Given the description of an element on the screen output the (x, y) to click on. 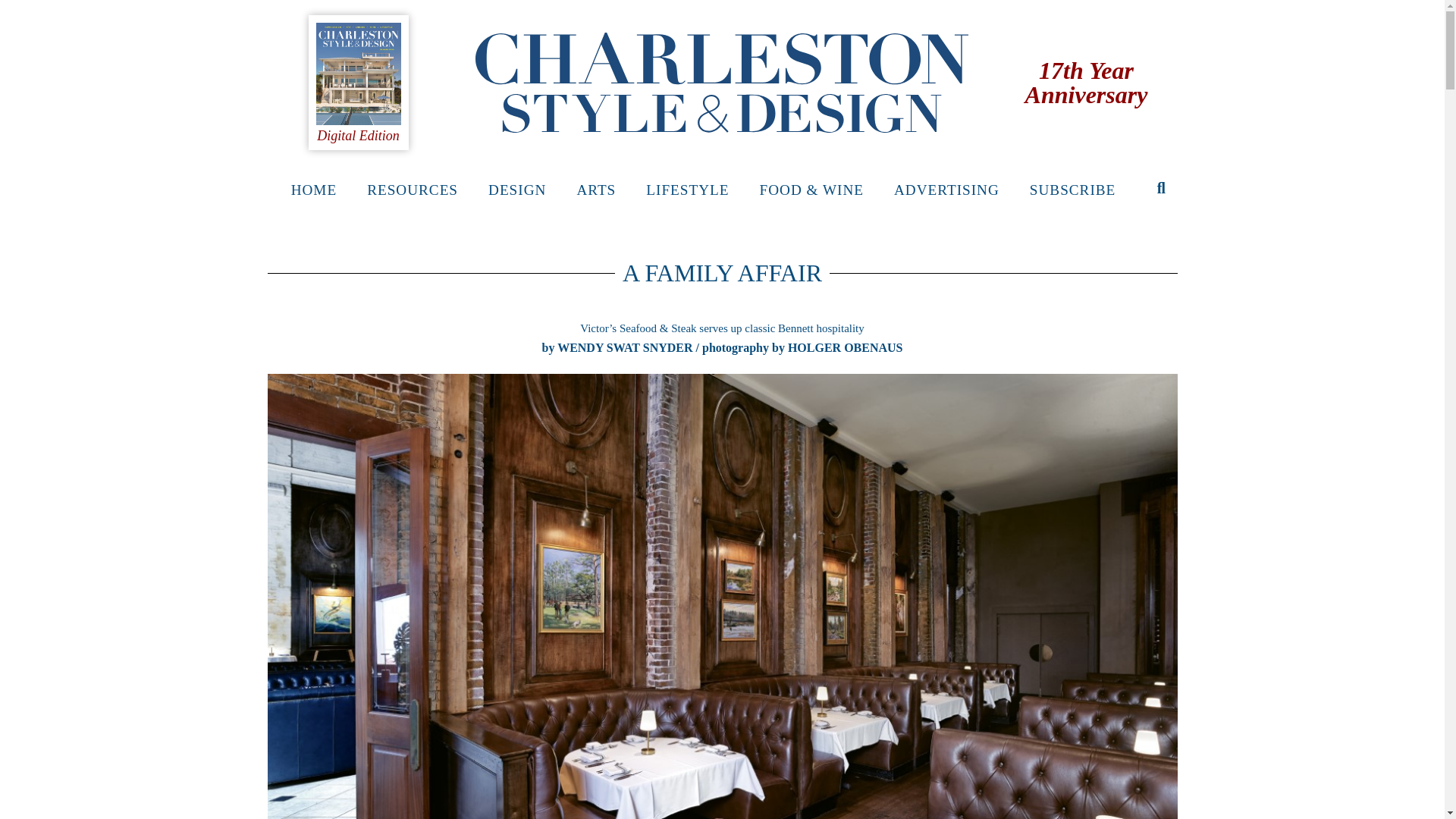
LIFESTYLE (687, 190)
ADVERTISING (946, 190)
SUBSCRIBE (1072, 190)
ARTS (595, 190)
DESIGN (516, 190)
Digital Edition (357, 135)
HOME (314, 190)
RESOURCES (412, 190)
